Given the description of an element on the screen output the (x, y) to click on. 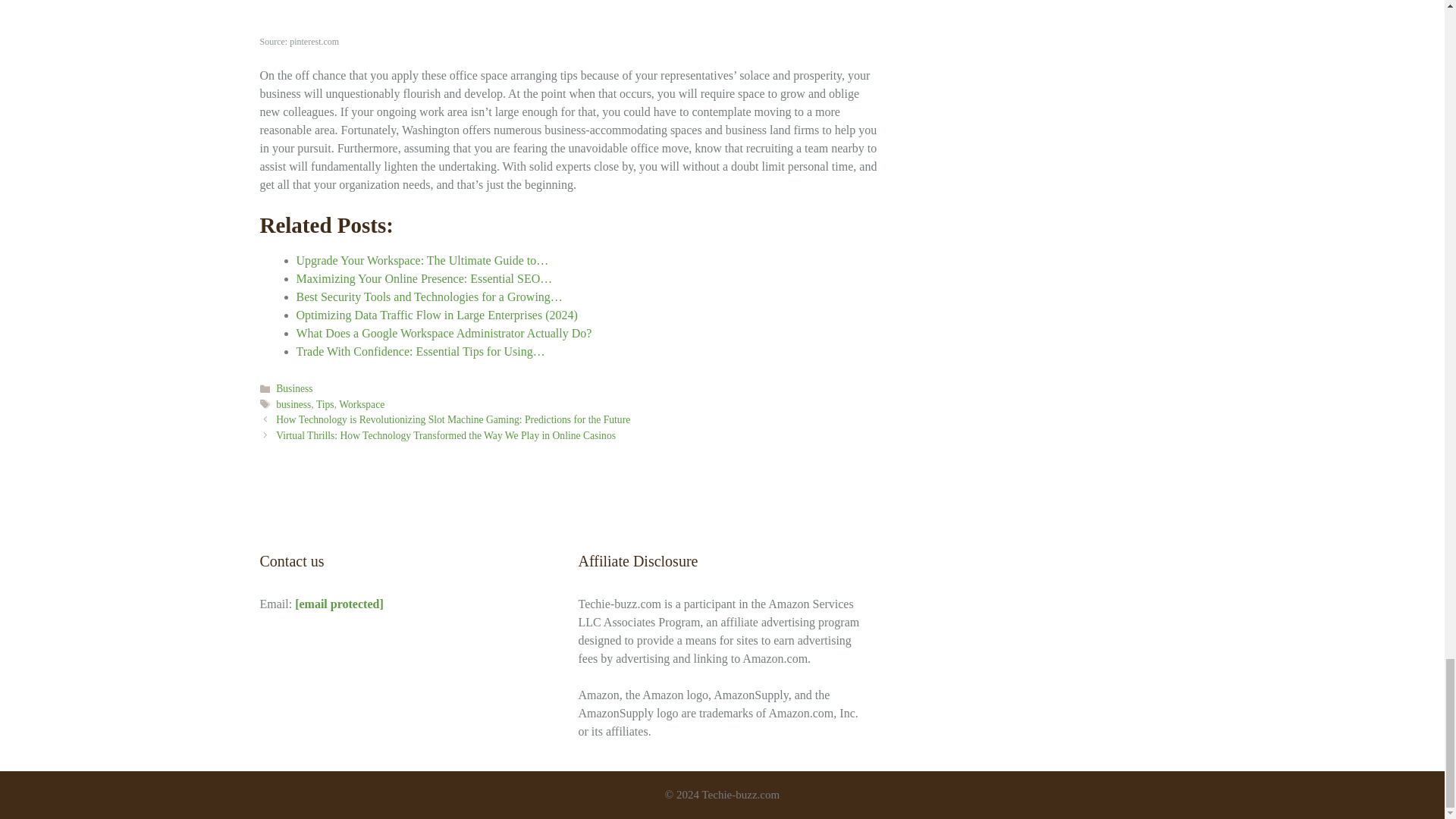
Business (294, 388)
What Does a Google Workspace Administrator Actually Do? (443, 332)
Tips (324, 404)
Workspace (361, 404)
business (293, 404)
